Given the description of an element on the screen output the (x, y) to click on. 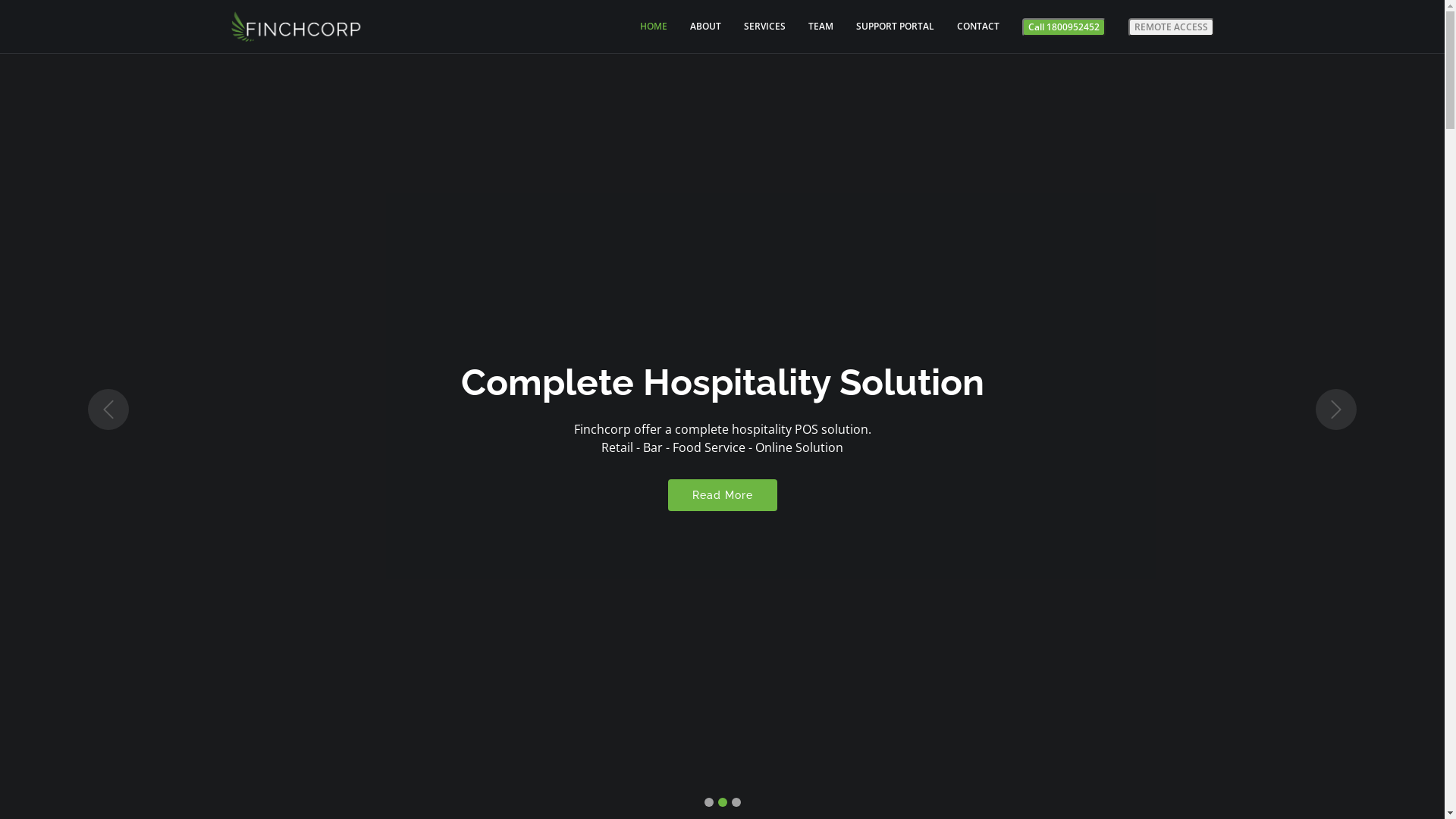
HOME Element type: text (642, 26)
Read More Element type: text (721, 486)
REMOTE ACCESS Element type: text (1171, 27)
Read More Element type: text (721, 495)
CONTACT Element type: text (966, 26)
SERVICES Element type: text (752, 26)
TEAM Element type: text (809, 26)
ABOUT Element type: text (694, 26)
SUPPORT PORTAL Element type: text (882, 26)
Call 1800952452 Element type: text (1063, 27)
